Given the description of an element on the screen output the (x, y) to click on. 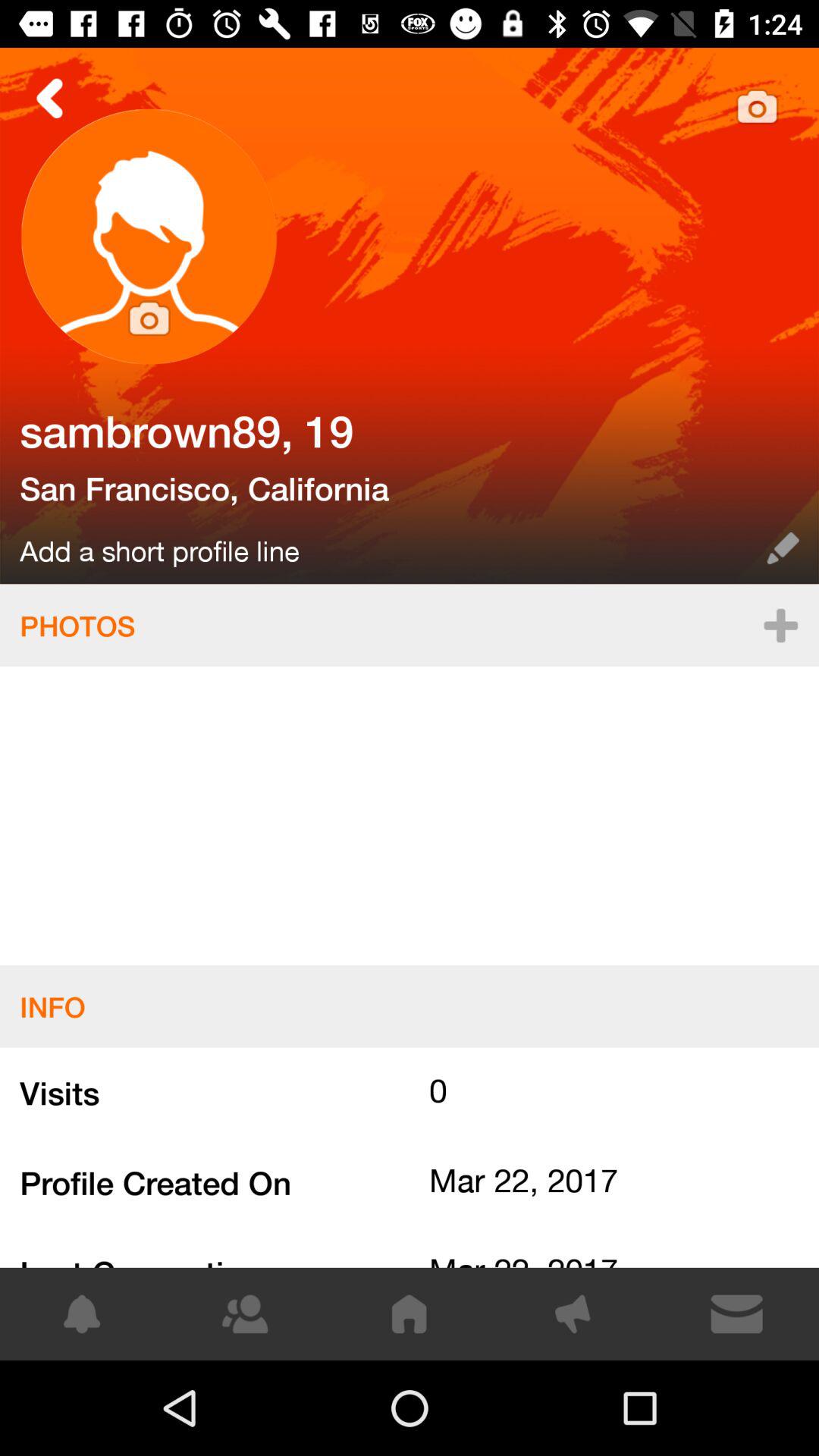
edit profile (409, 315)
